Given the description of an element on the screen output the (x, y) to click on. 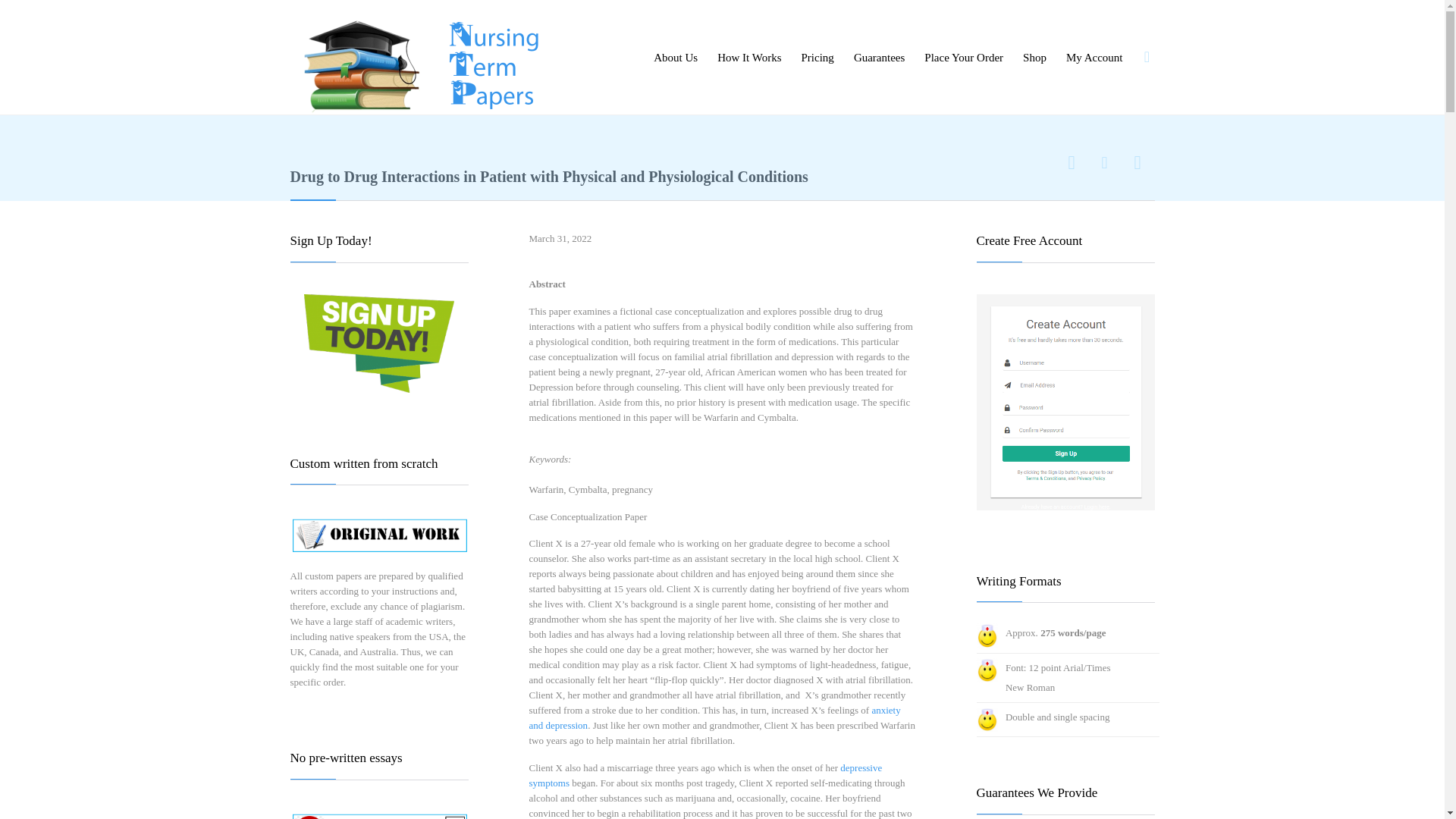
Guarantees (879, 58)
Pricing (817, 58)
Place Your Order (963, 58)
My Account (1094, 58)
How It Works (748, 58)
About Us (675, 58)
Shop (1034, 58)
Nursing Term Papers (419, 57)
